Given the description of an element on the screen output the (x, y) to click on. 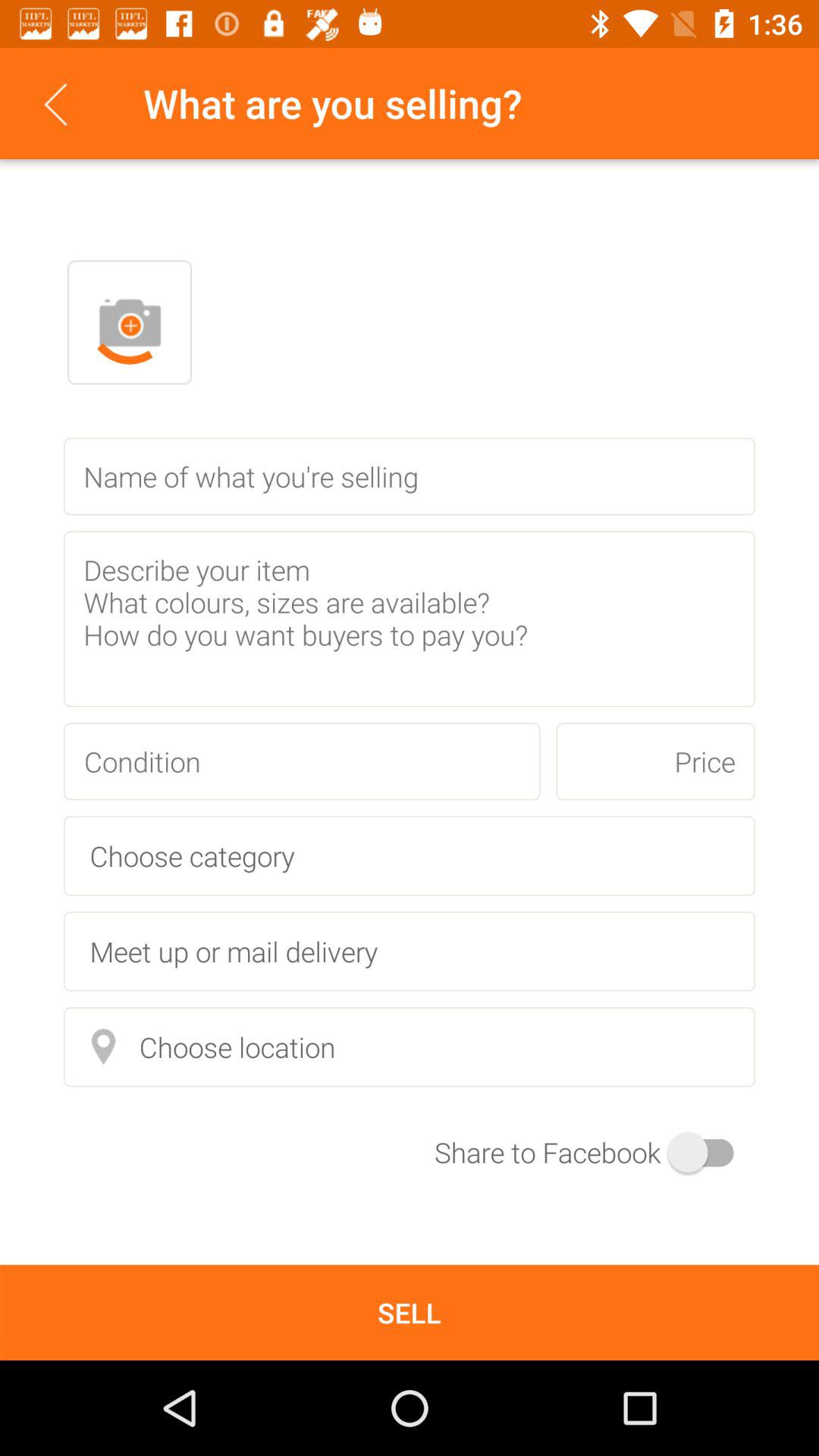
choose item next to the what are you (55, 103)
